Given the description of an element on the screen output the (x, y) to click on. 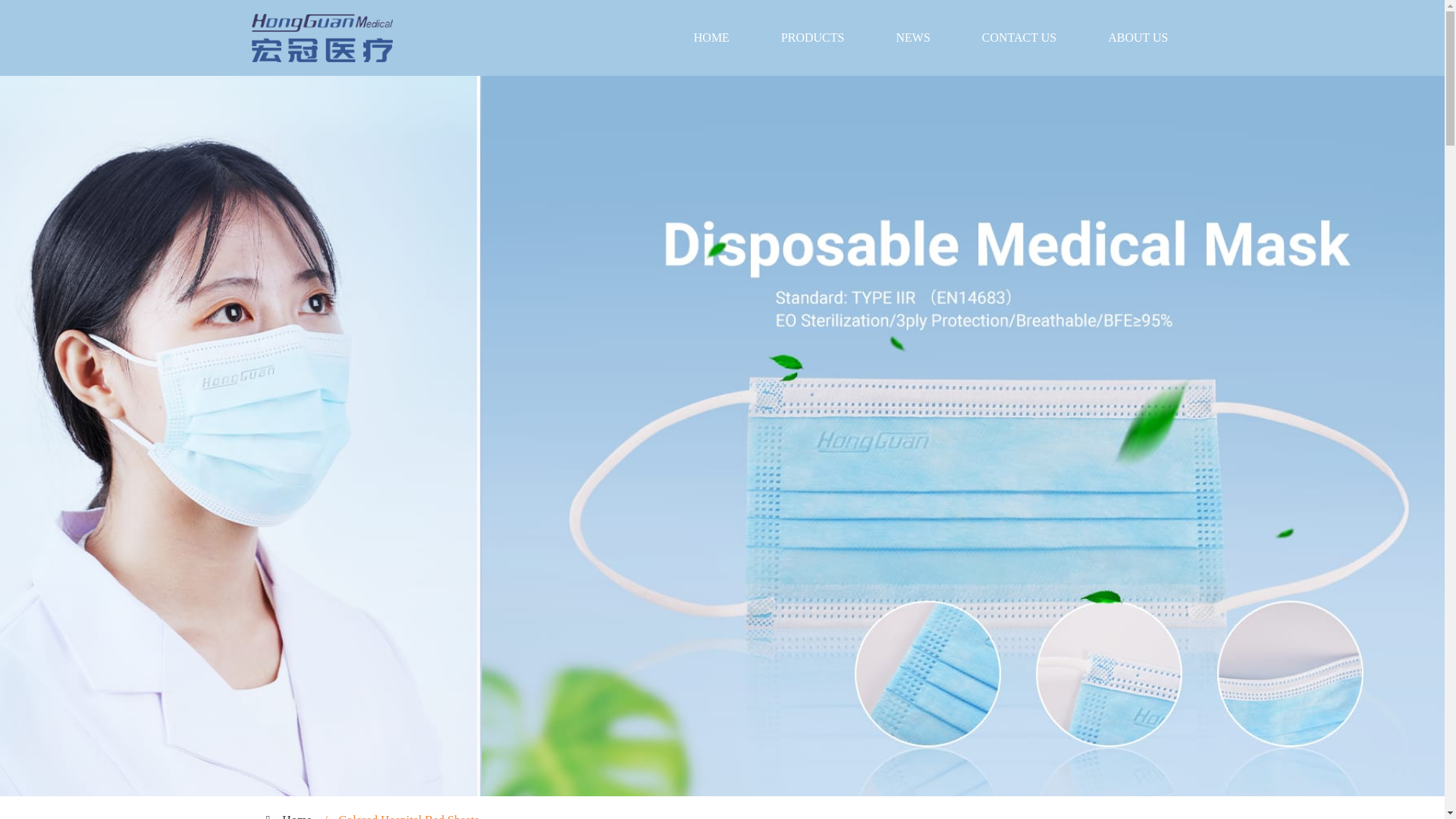
CONTACT US (1018, 38)
Home (296, 816)
PRODUCTS (812, 38)
